Given the description of an element on the screen output the (x, y) to click on. 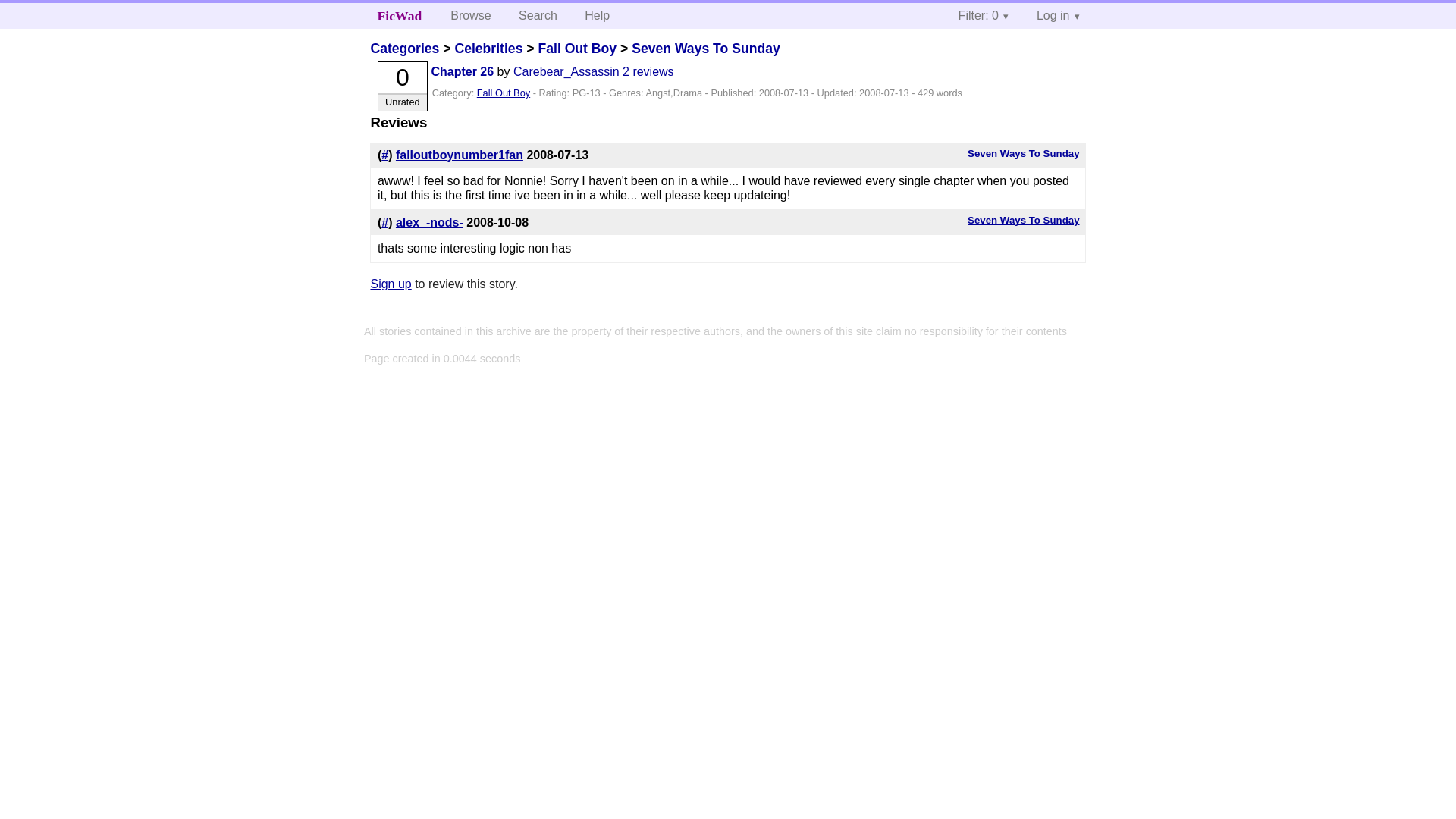
Fall Out Boy (503, 92)
falloutboynumber1fan (459, 154)
Help (596, 15)
Seven Ways To Sunday (705, 48)
Celebrities (488, 48)
Log in (1058, 15)
Fall Out Boy (576, 48)
Seven Ways To Sunday (1023, 220)
FicWad (399, 15)
2 reviews (648, 71)
